Given the description of an element on the screen output the (x, y) to click on. 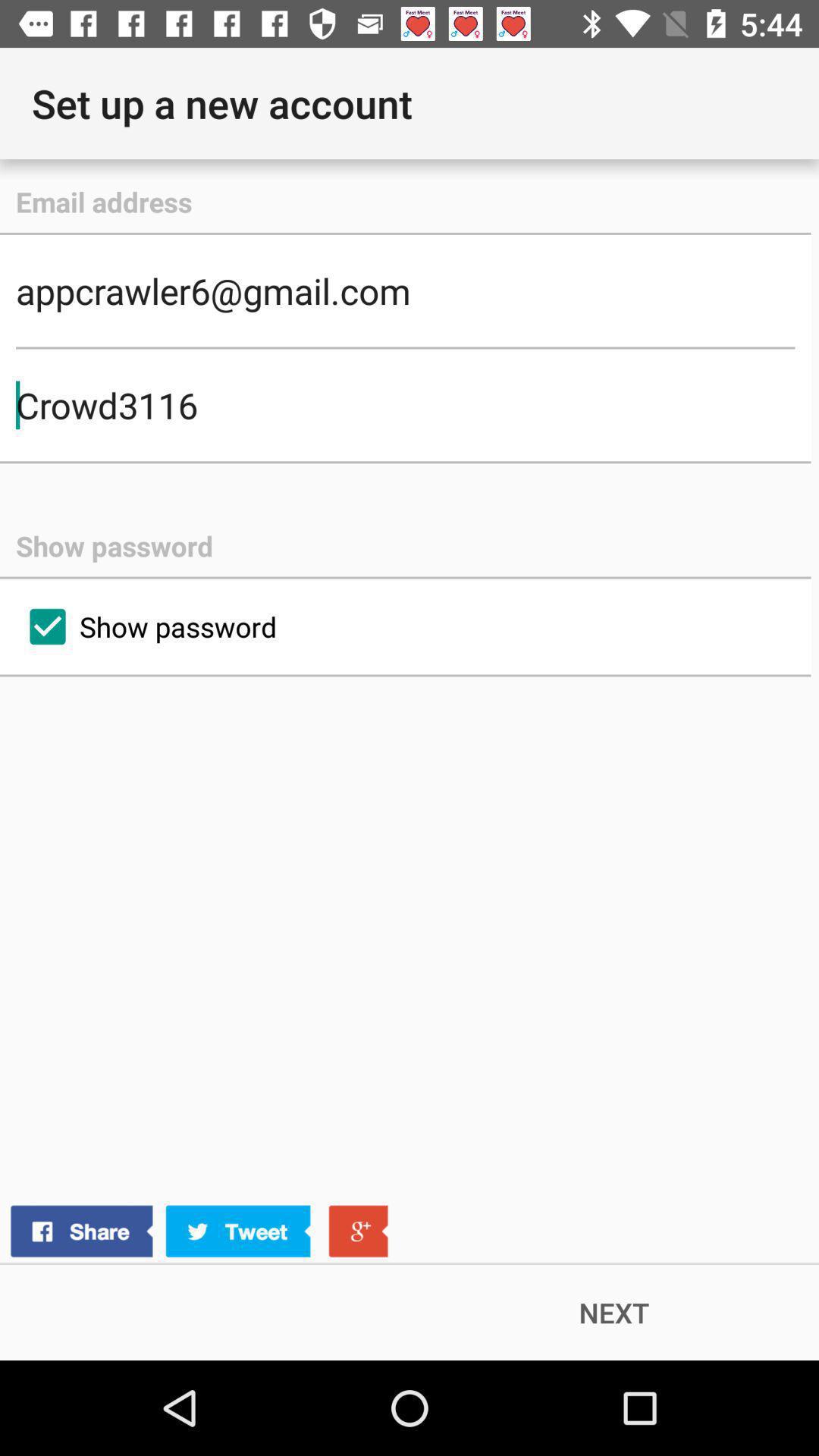
click the item at the bottom right corner (614, 1312)
